Given the description of an element on the screen output the (x, y) to click on. 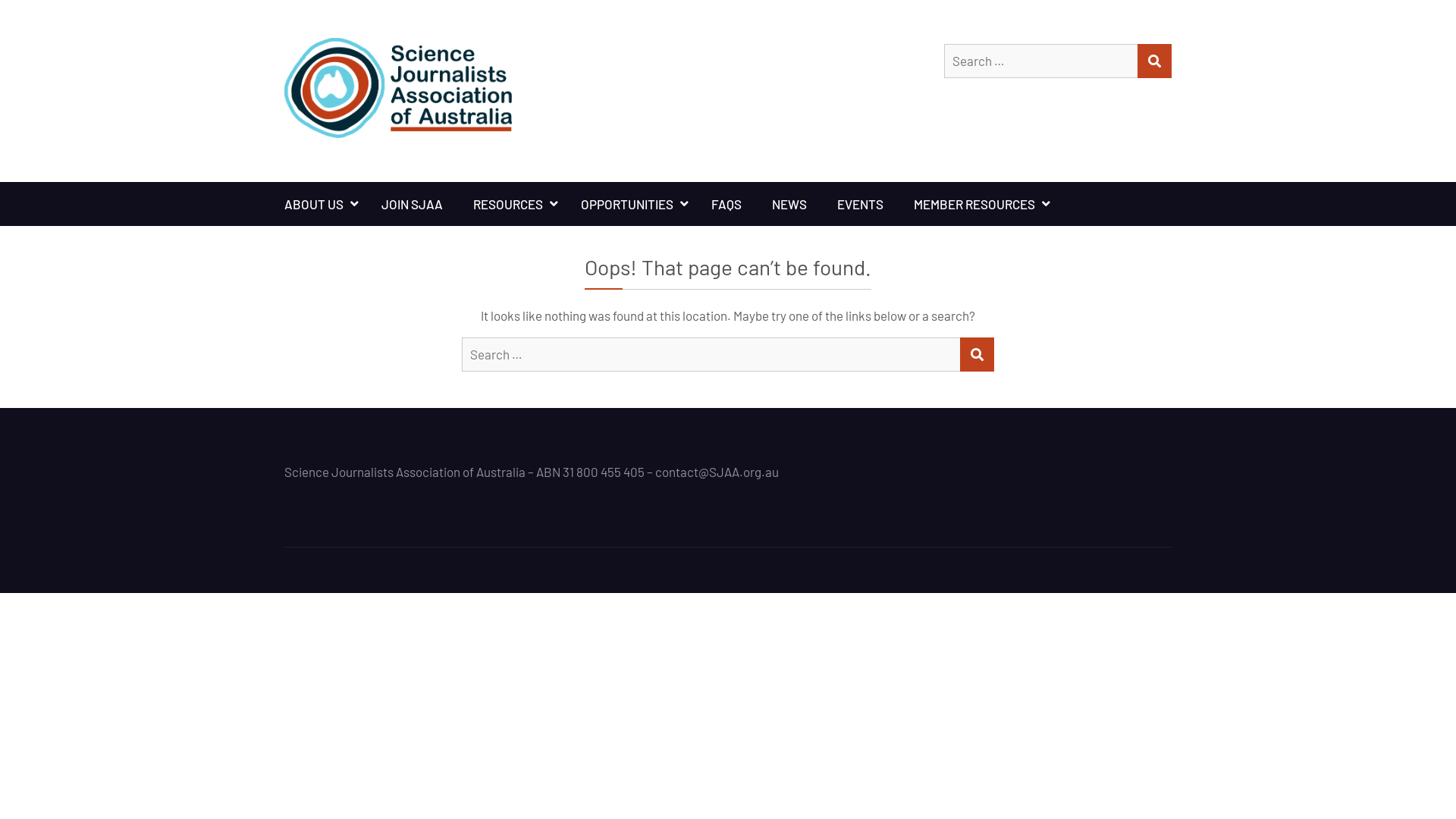
MEMBER RESOURCES Element type: text (977, 203)
RESOURCES Element type: text (511, 203)
FAQS Element type: text (726, 203)
OPPORTUNITIES Element type: text (630, 203)
NEWS Element type: text (789, 203)
EVENTS Element type: text (860, 203)
JOIN SJAA Element type: text (412, 203)
SEARCH Element type: text (1154, 60)
ABOUT US Element type: text (317, 203)
SEARCH Element type: text (977, 354)
